Given the description of an element on the screen output the (x, y) to click on. 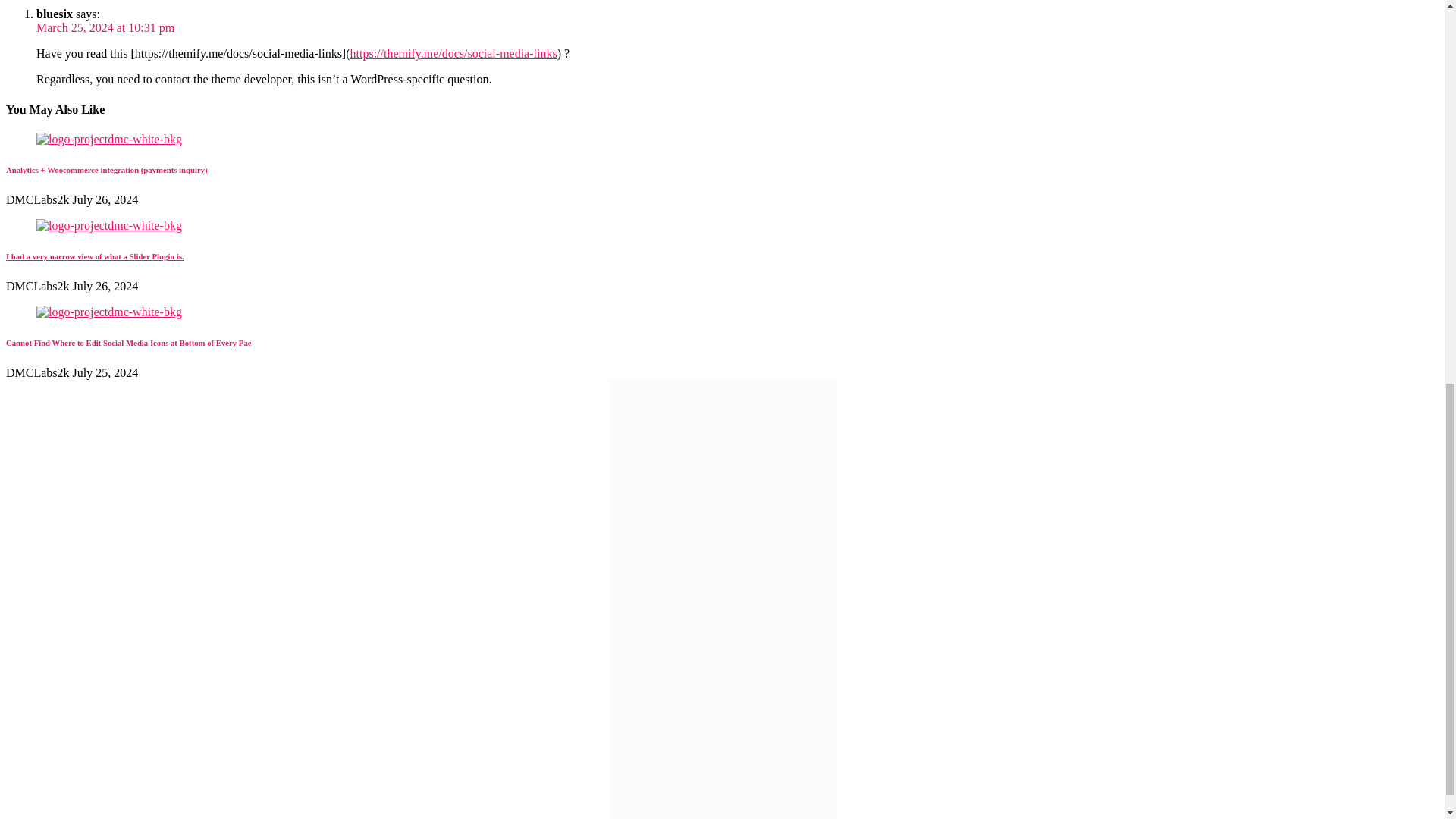
I had a very narrow view of what a Slider Plugin is. (94, 256)
I had a very narrow view of what a Slider Plugin is. (109, 225)
